Given the description of an element on the screen output the (x, y) to click on. 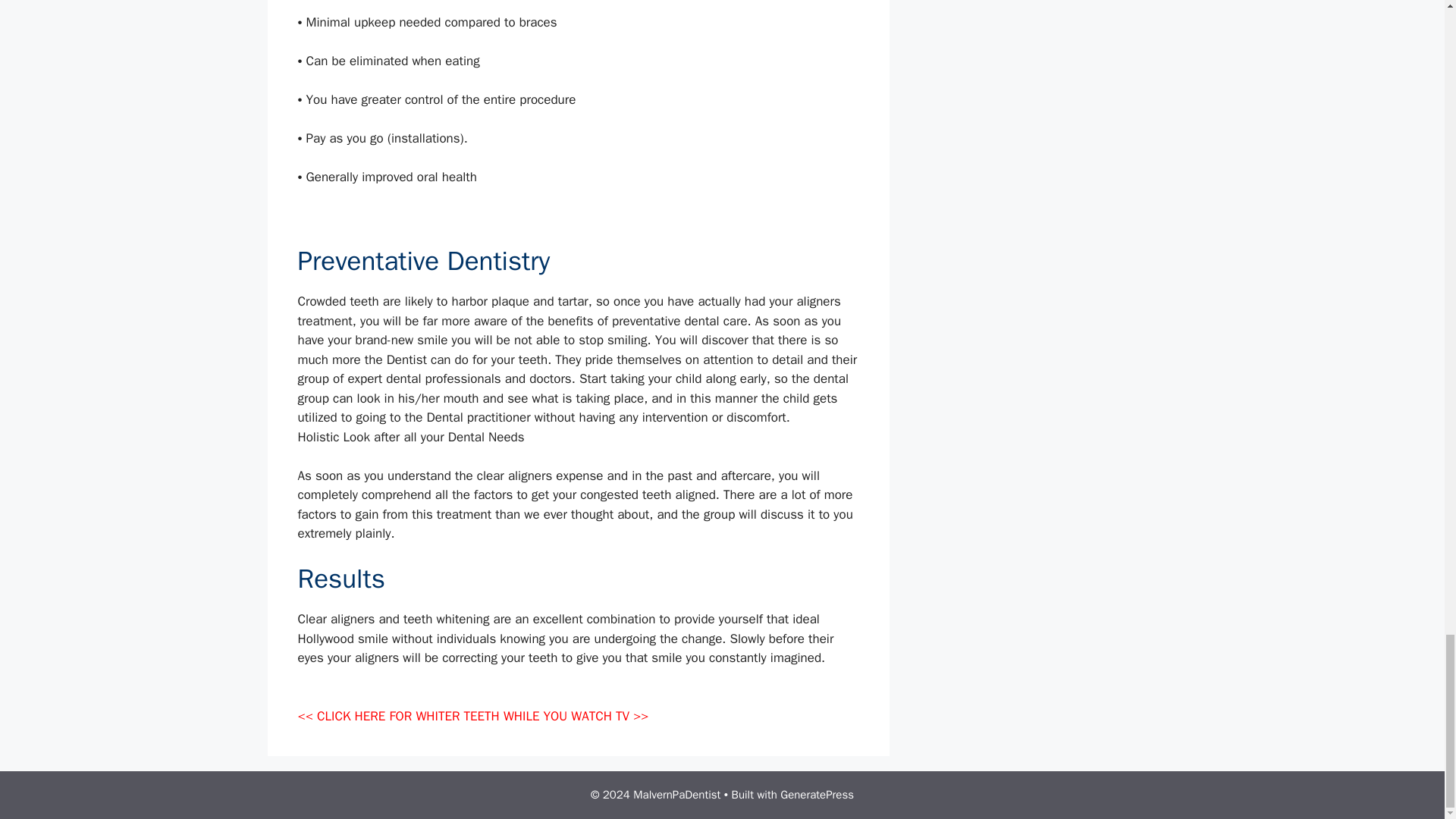
GeneratePress (816, 794)
